Given the description of an element on the screen output the (x, y) to click on. 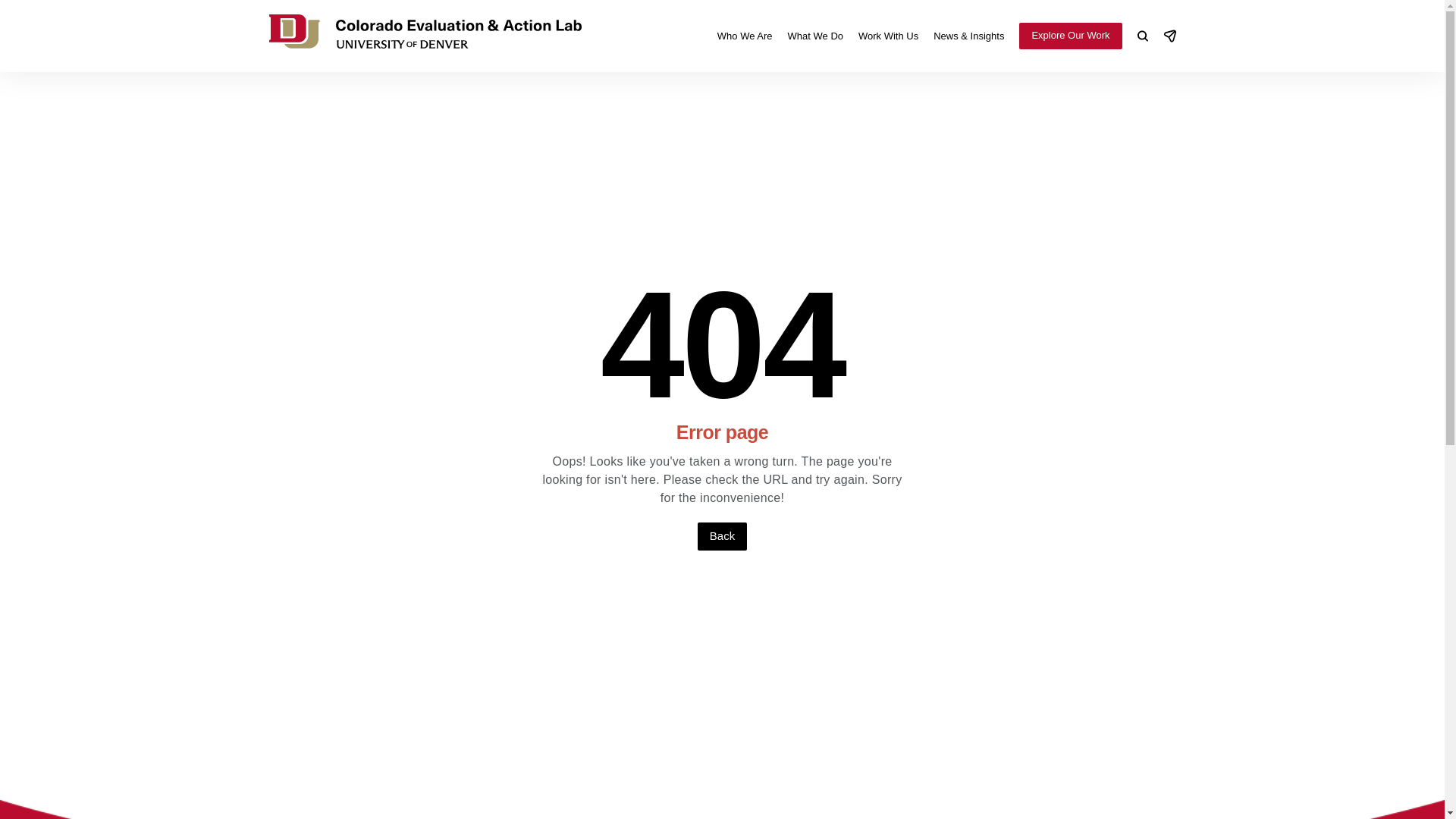
Explore Our Work (1070, 35)
What We Do (815, 35)
Contact Us (1168, 35)
Search (1142, 35)
Who We Are (745, 35)
Work With Us (888, 35)
